Given the description of an element on the screen output the (x, y) to click on. 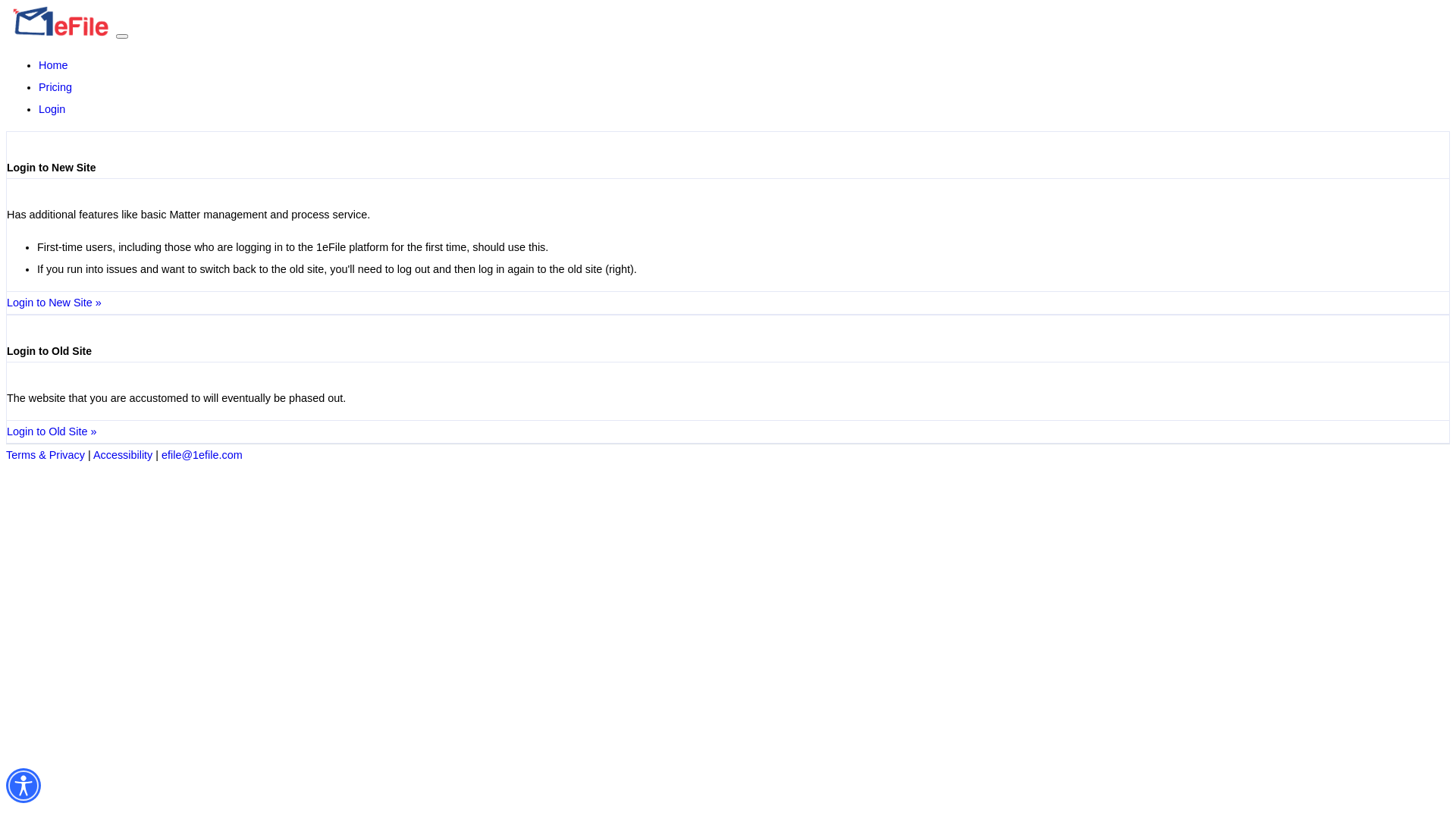
Terms & Privacy Element type: text (45, 454)
Accessibility Element type: text (122, 454)
Pricing Element type: text (55, 87)
Login Element type: text (51, 109)
Home Element type: text (52, 65)
efile@1efile.com Element type: text (201, 454)
